Given the description of an element on the screen output the (x, y) to click on. 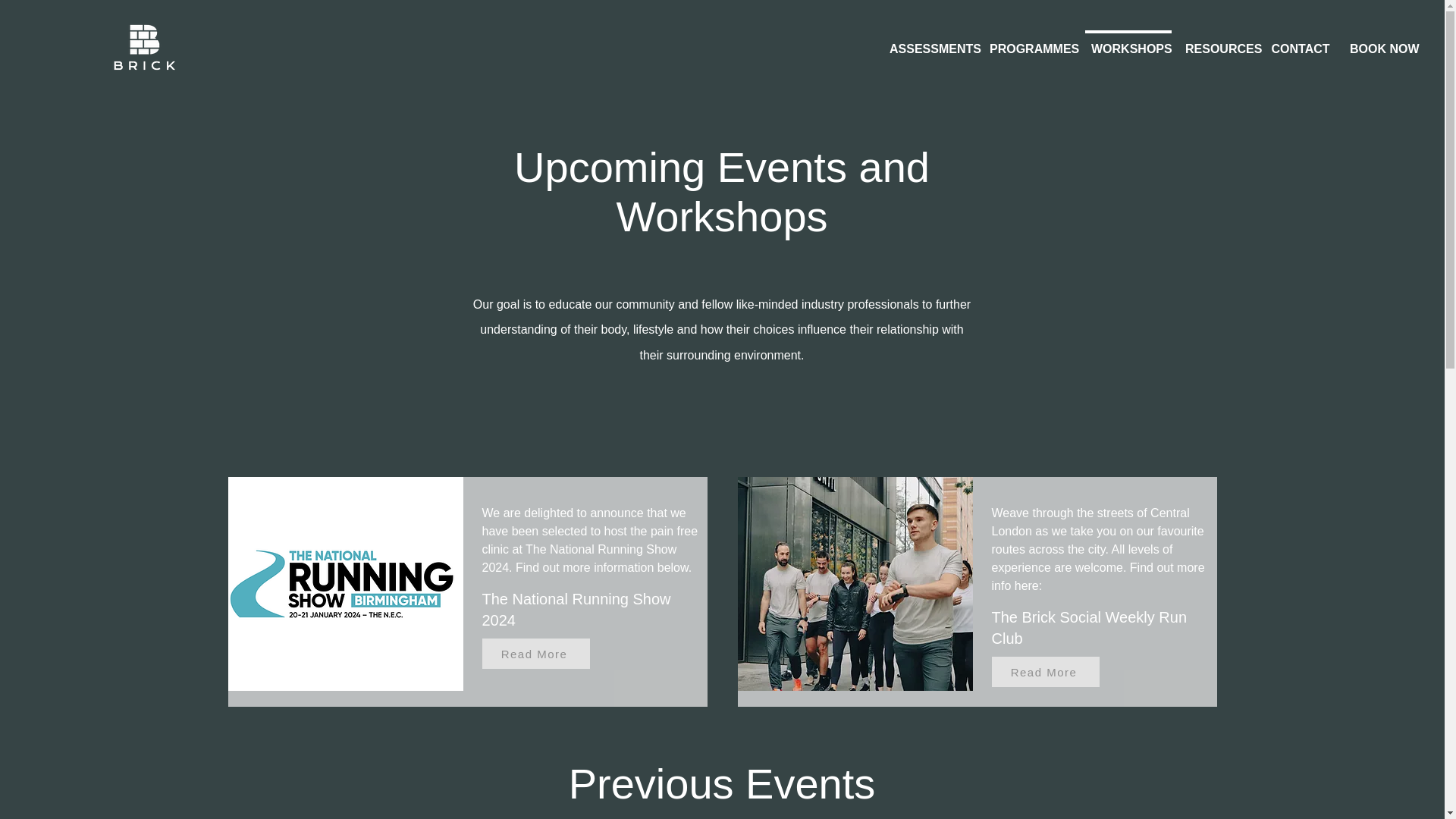
PROGRAMMES (1030, 42)
Read More (535, 653)
Read More (1045, 671)
WORKSHOPS (1127, 42)
CONTACT (1299, 42)
BOOK NOW (1382, 42)
ASSESSMENTS (929, 42)
RESOURCES (1217, 42)
